Given the description of an element on the screen output the (x, y) to click on. 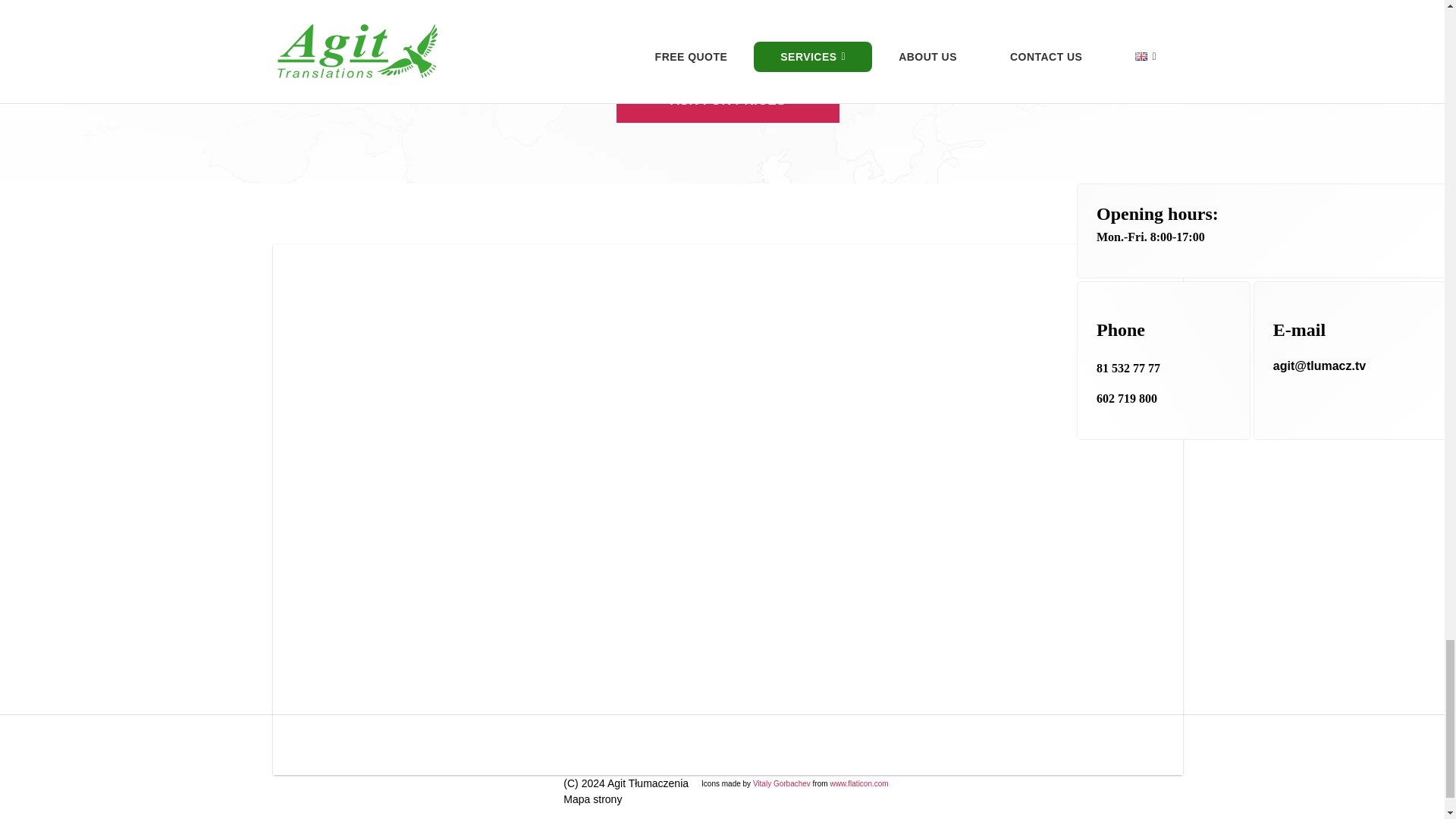
Flaticon (858, 783)
Vitaly Gorbachev (781, 783)
